Given the description of an element on the screen output the (x, y) to click on. 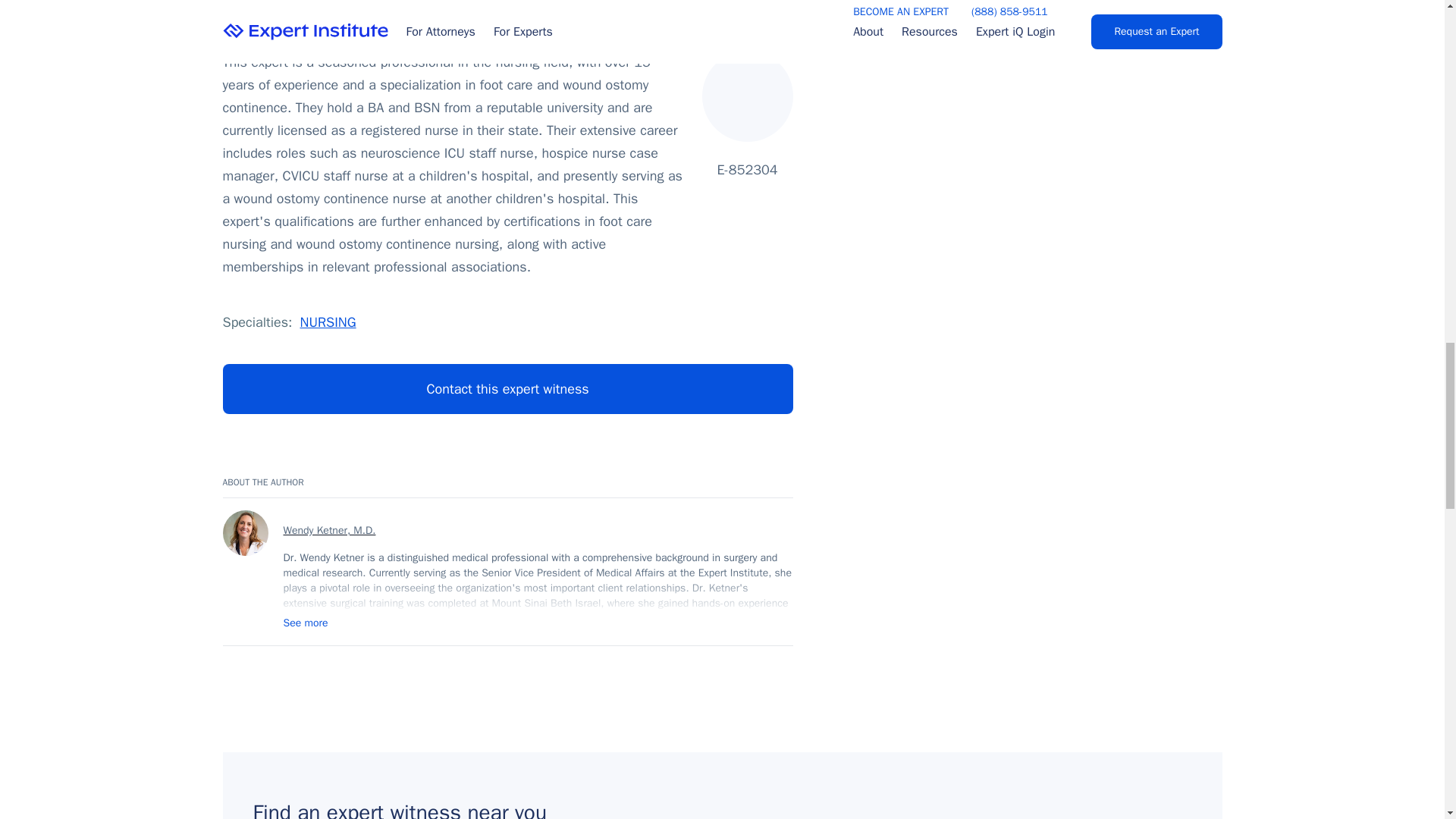
Contact this expert witness (507, 388)
See more (306, 623)
NURSING (327, 322)
Wendy Ketner, M.D. (538, 530)
